Given the description of an element on the screen output the (x, y) to click on. 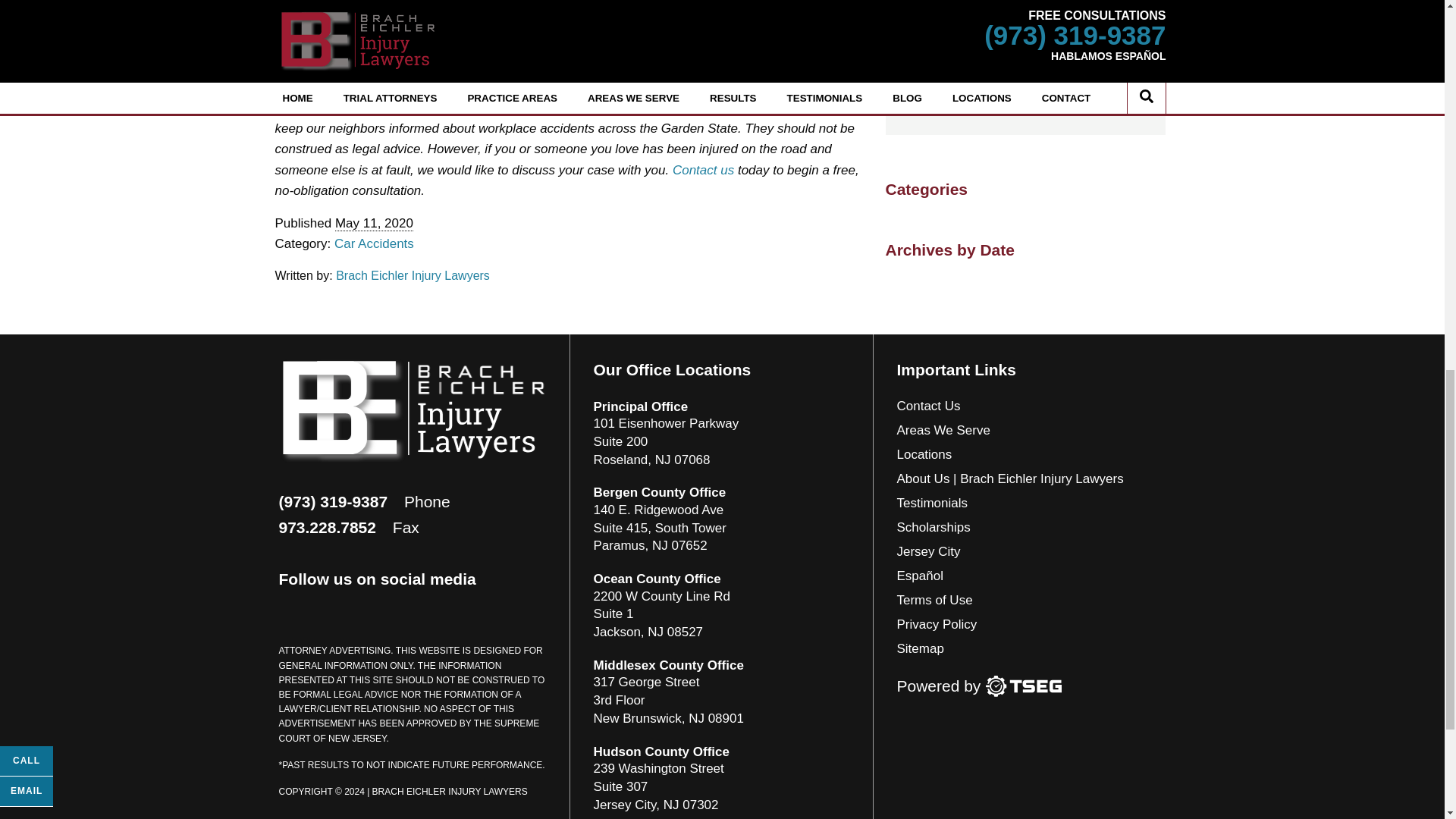
Contact Us (702, 169)
2020-05-11T15:21:45-0400 (373, 223)
